Given the description of an element on the screen output the (x, y) to click on. 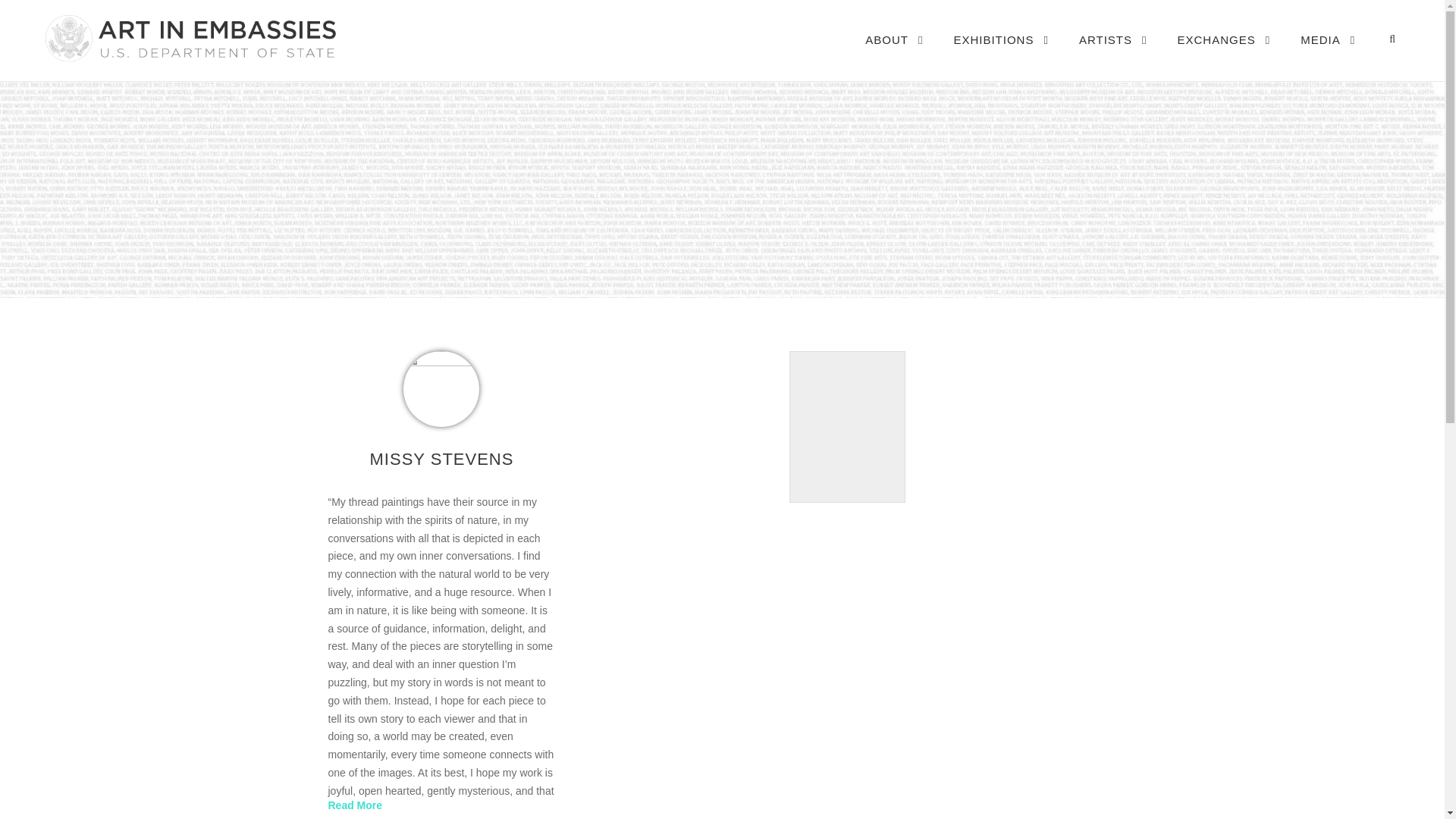
aie logo3 (188, 38)
no-image-available-1 (441, 388)
ABOUT (893, 55)
